Given the description of an element on the screen output the (x, y) to click on. 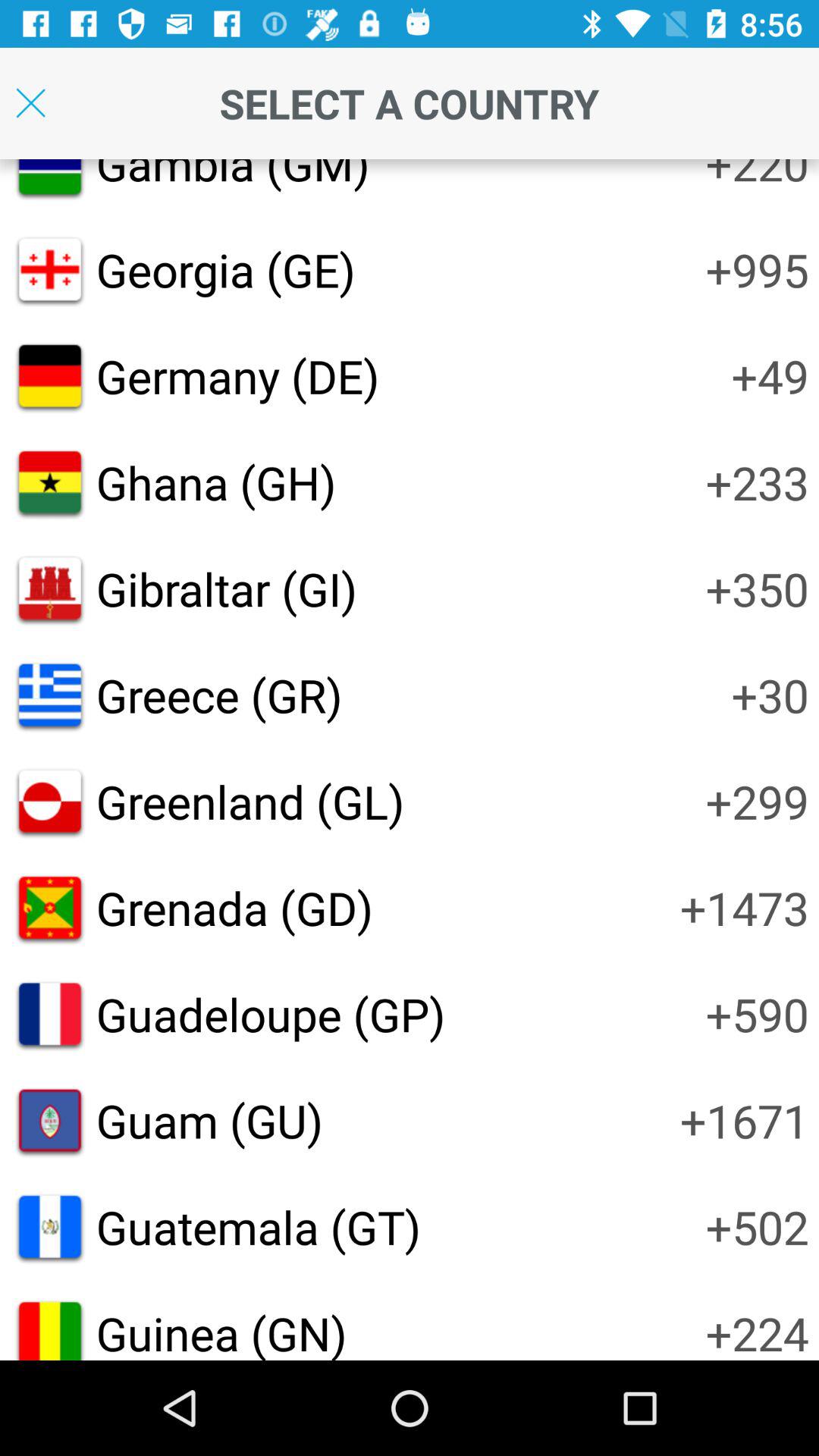
turn off guinea (gn) item (221, 1331)
